Given the description of an element on the screen output the (x, y) to click on. 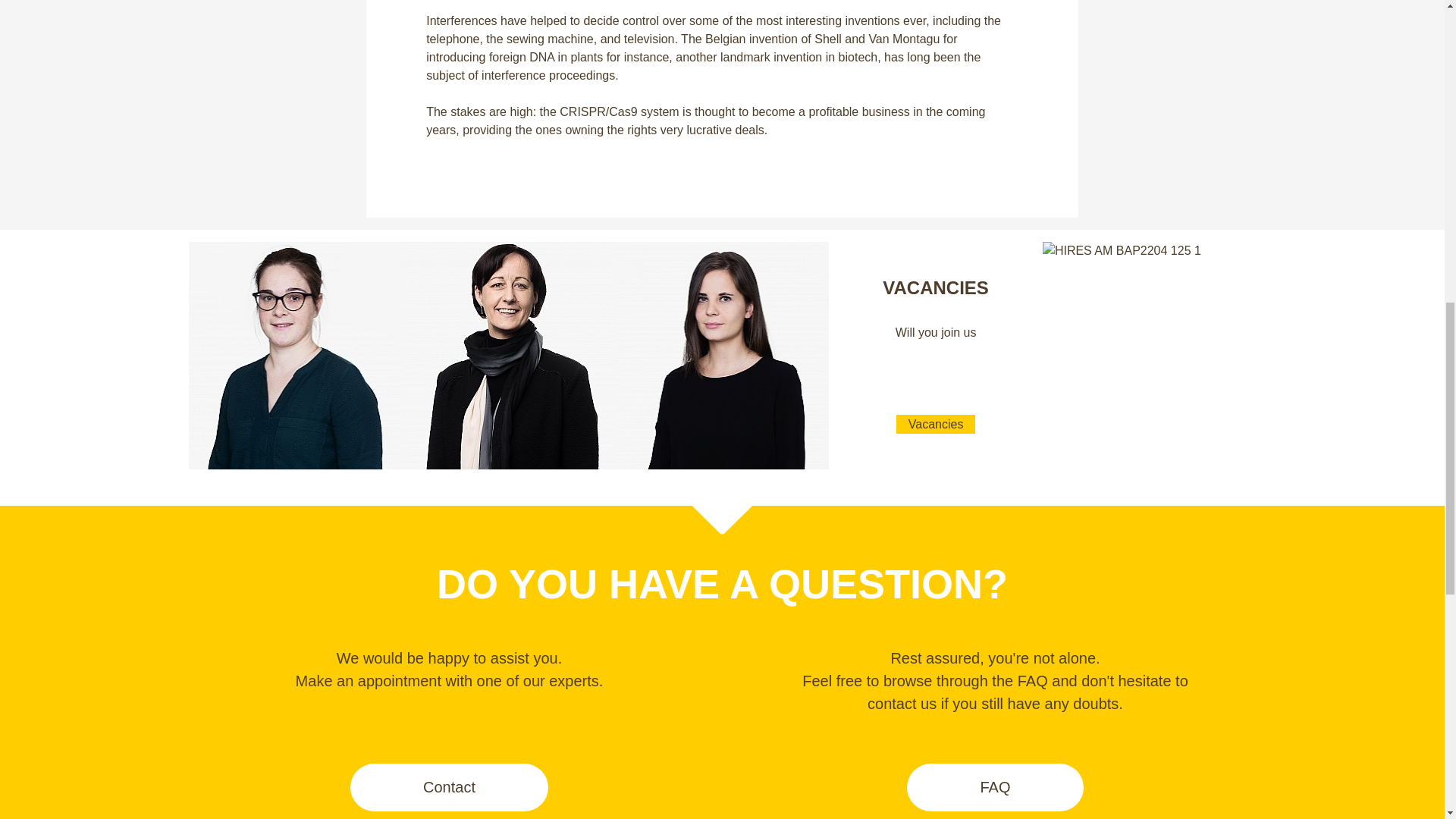
Contact (449, 787)
FAQ (935, 355)
